Given the description of an element on the screen output the (x, y) to click on. 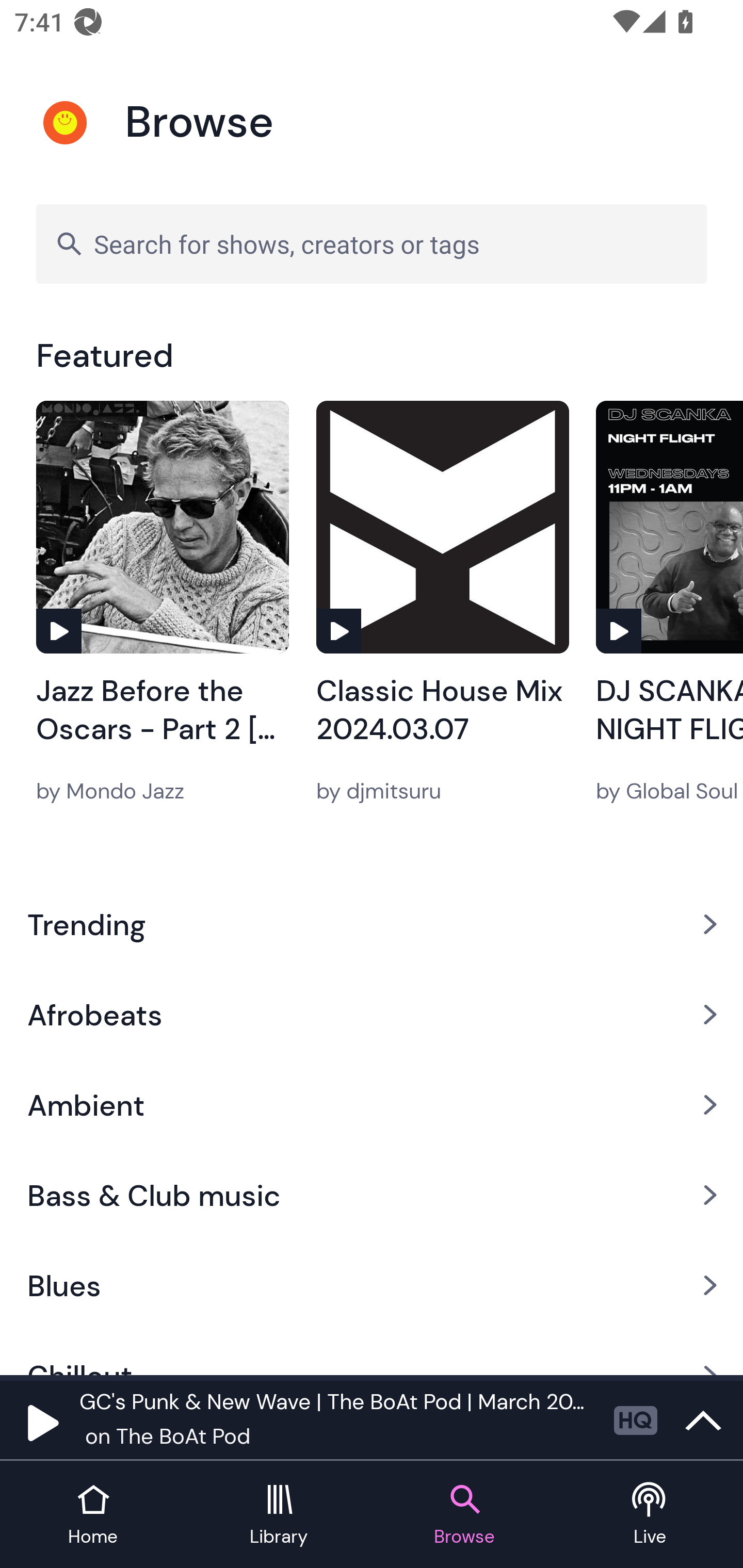
Search for shows, creators or tags (371, 243)
Trending (371, 924)
Afrobeats (371, 1014)
Ambient (371, 1104)
Bass & Club music (371, 1195)
Blues (371, 1285)
Home tab Home (92, 1515)
Library tab Library (278, 1515)
Browse tab Browse (464, 1515)
Live tab Live (650, 1515)
